Given the description of an element on the screen output the (x, y) to click on. 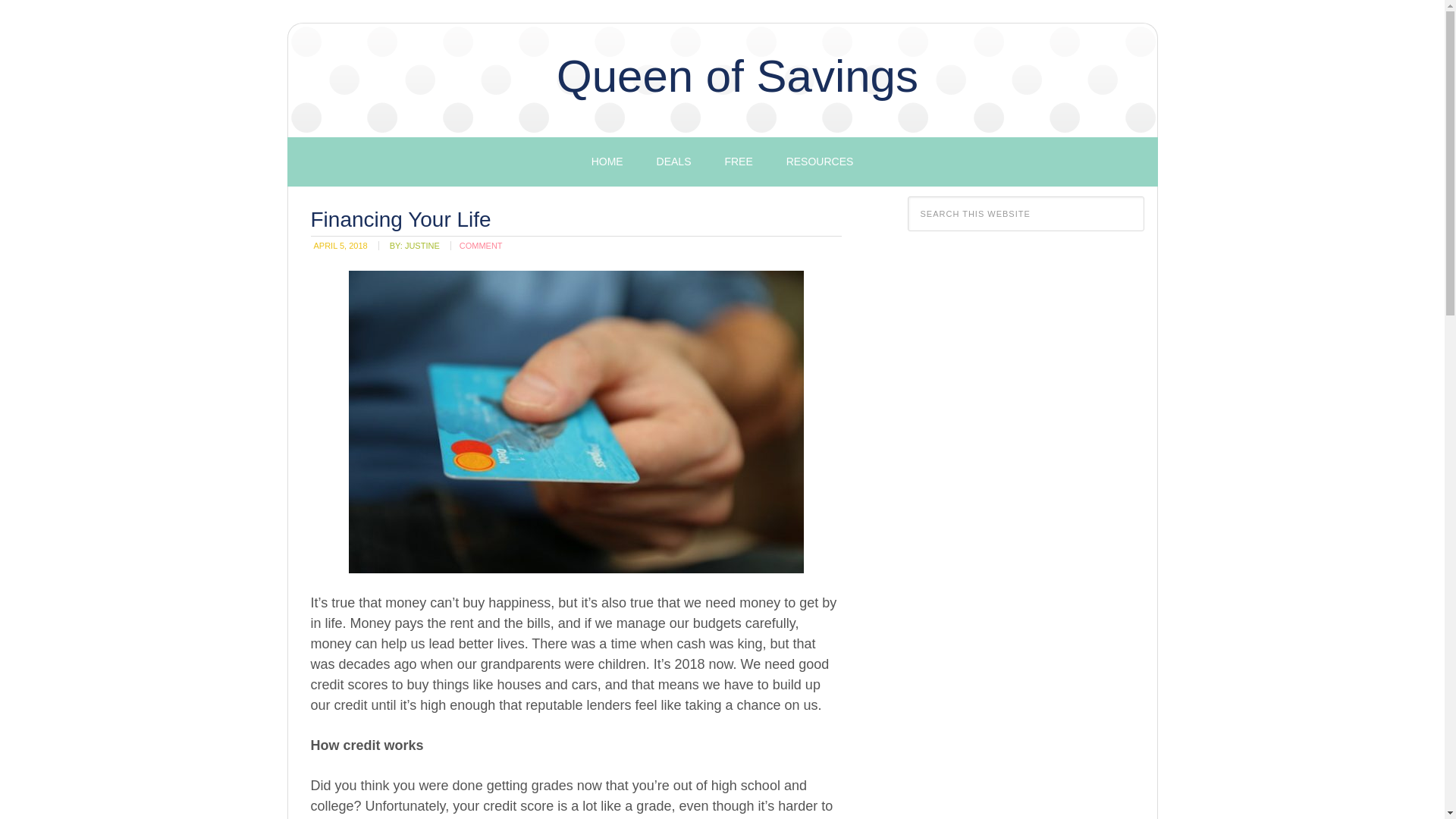
HOME (607, 161)
Queen of Savings (737, 75)
DEALS (674, 161)
RESOURCES (820, 161)
COMMENT (481, 245)
FREE (738, 161)
